Given the description of an element on the screen output the (x, y) to click on. 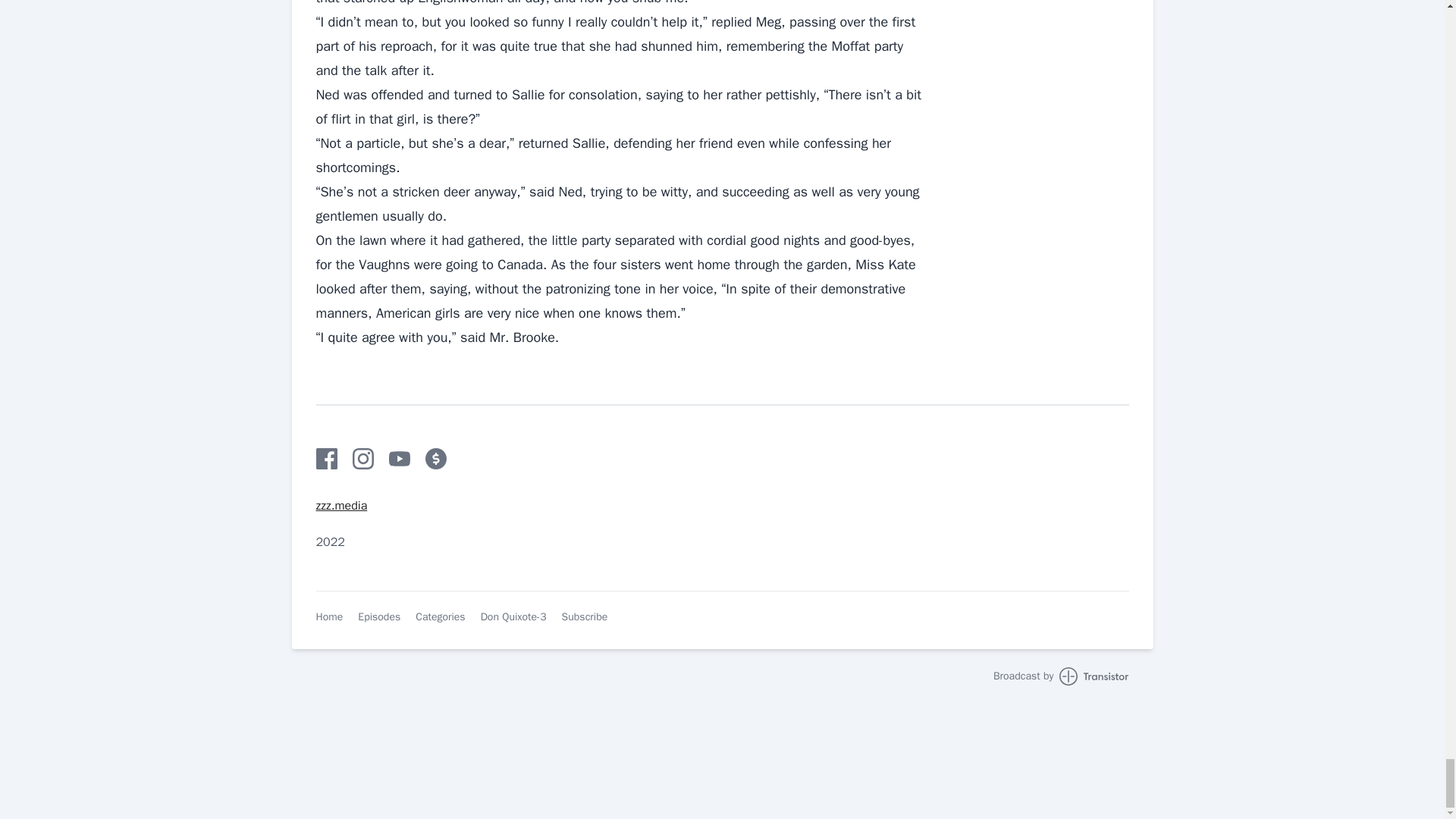
Broadcast by (1060, 676)
zzz.media (340, 505)
Categories (439, 616)
Episodes (379, 616)
Home (328, 616)
Subscribe (585, 616)
Don Quixote-3 (513, 616)
